Given the description of an element on the screen output the (x, y) to click on. 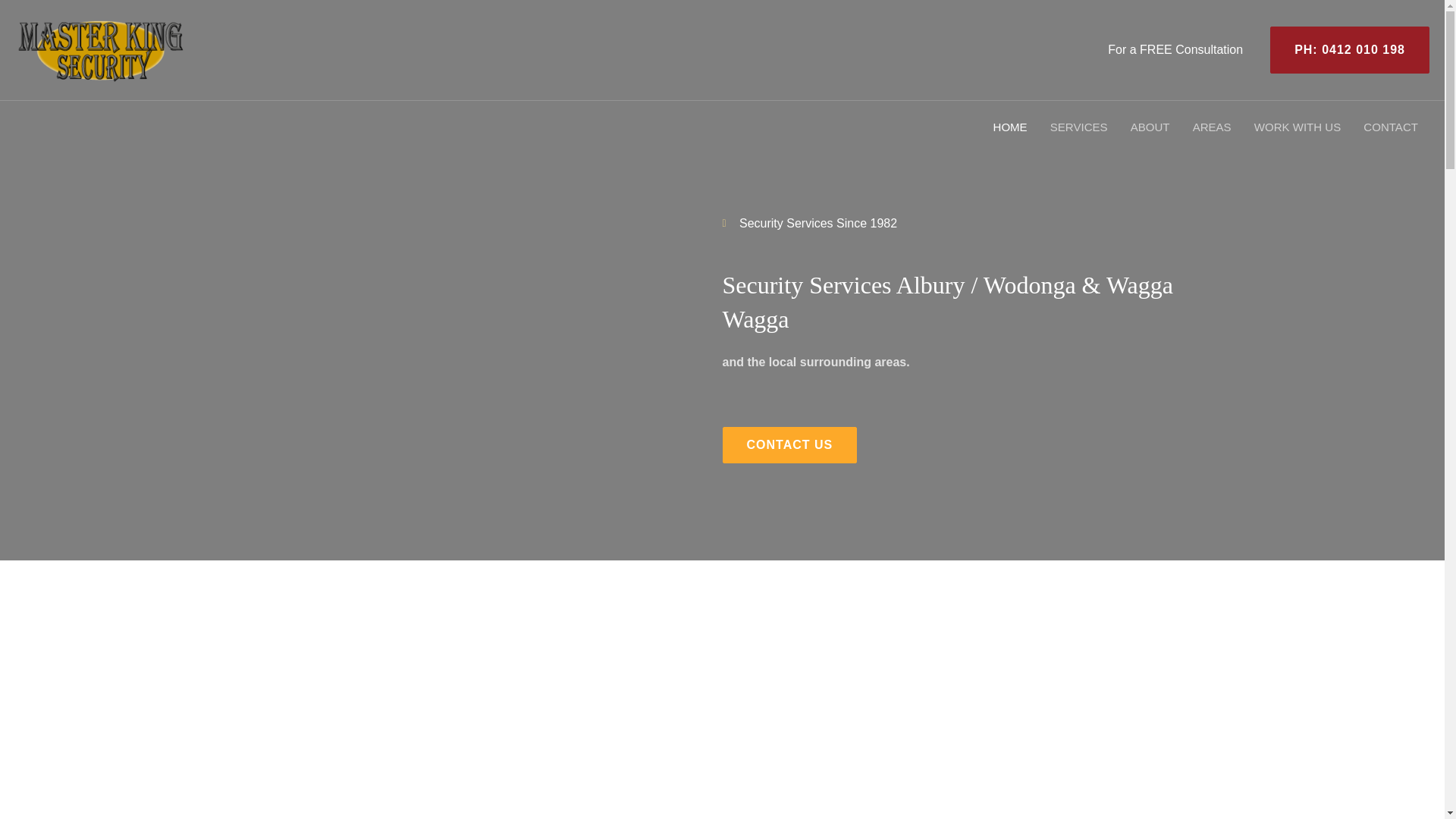
CONTACT (1390, 126)
CONTACT US (789, 444)
AREAS (1211, 126)
SERVICES (1079, 126)
WORK WITH US (1297, 126)
ABOUT (1149, 126)
PH: 0412 010 198 (1343, 49)
HOME (1009, 126)
